Given the description of an element on the screen output the (x, y) to click on. 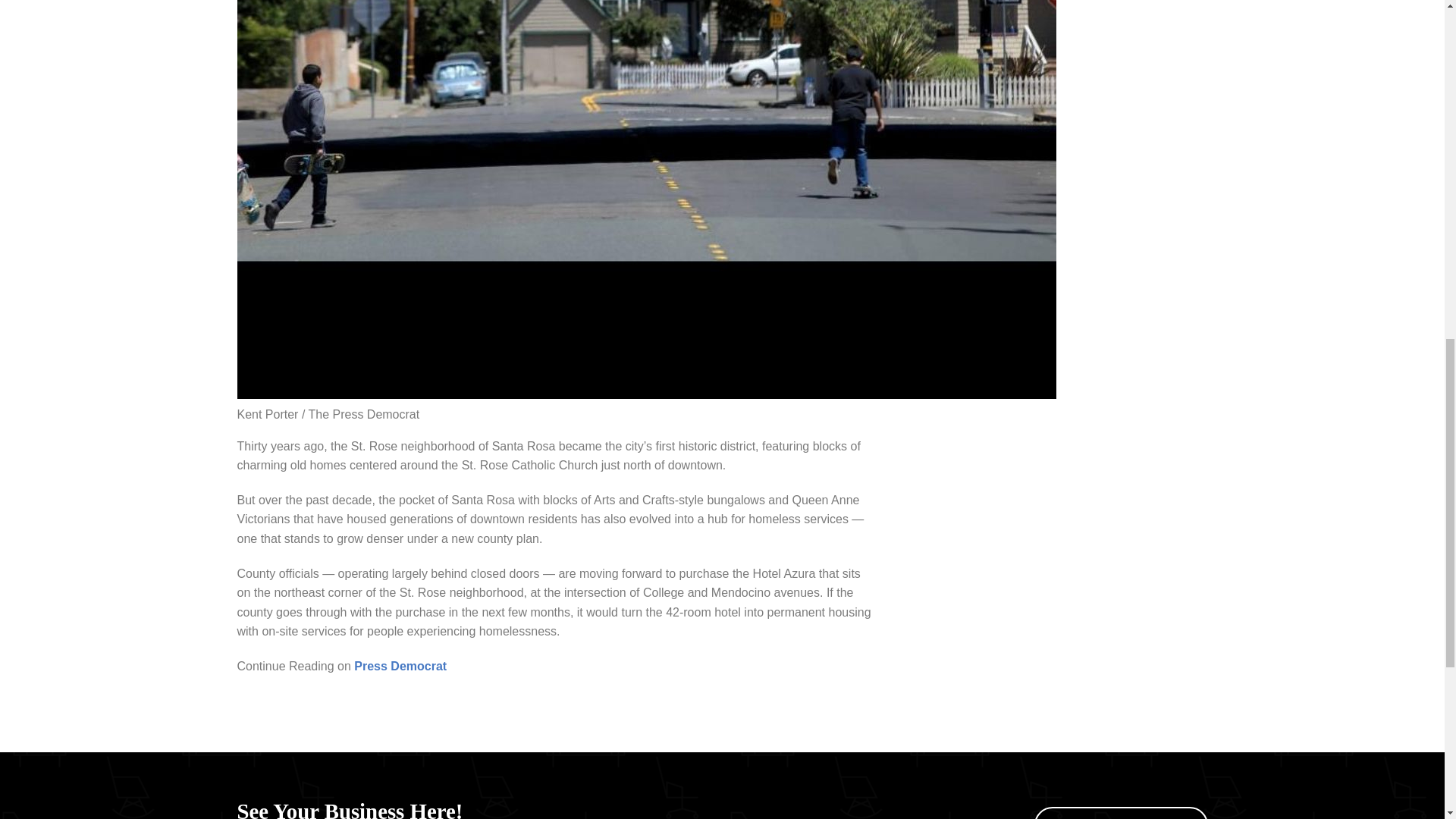
ADD YOUR BUSINESS (1120, 812)
Press Democrat (399, 666)
